Given the description of an element on the screen output the (x, y) to click on. 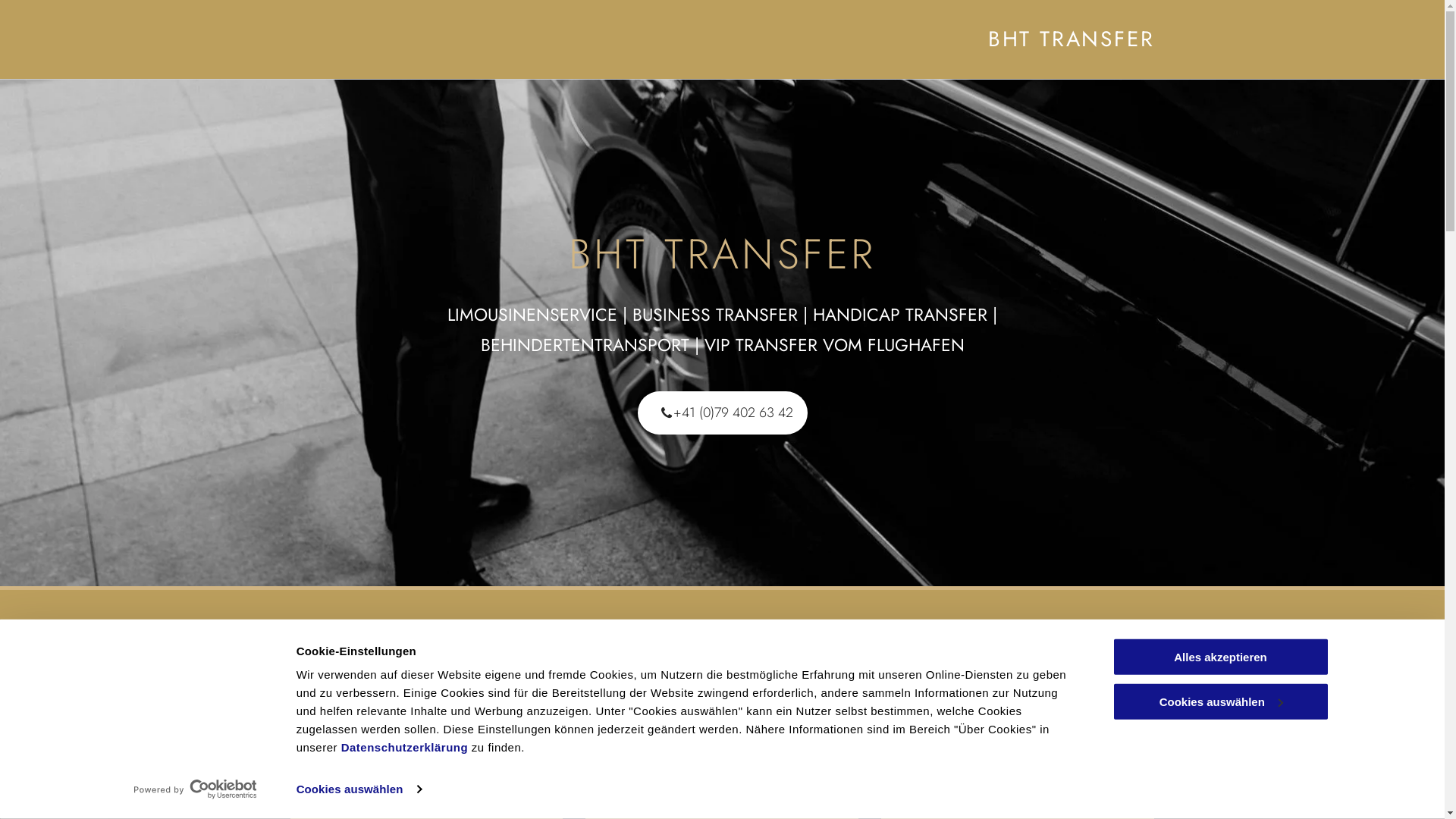
+41 (0)79 402 63 42 Element type: text (721, 412)
Alles akzeptieren Element type: text (1219, 656)
BHT TRANSFER Element type: text (1071, 38)
